Given the description of an element on the screen output the (x, y) to click on. 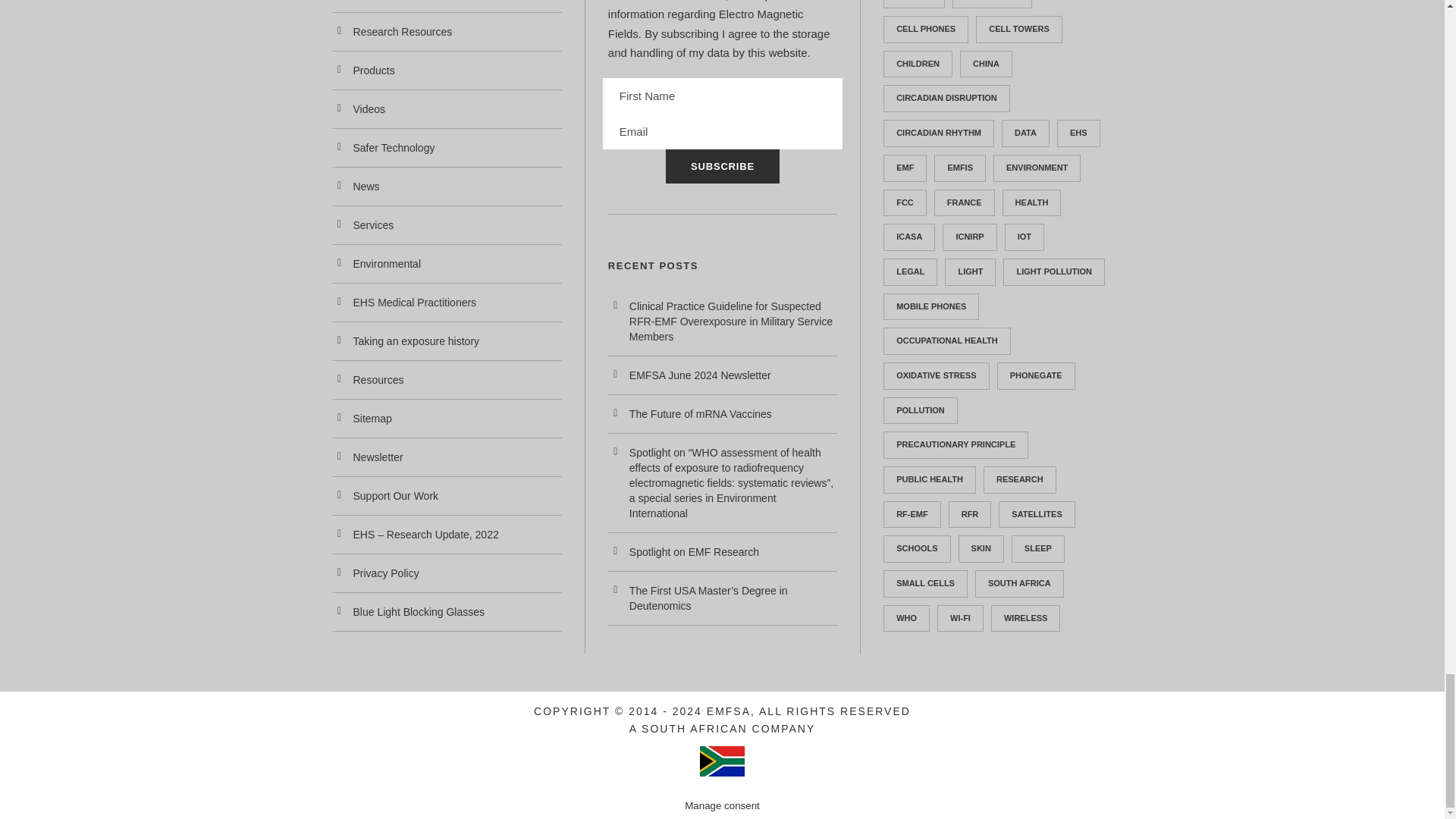
Subscribe (721, 166)
